Given the description of an element on the screen output the (x, y) to click on. 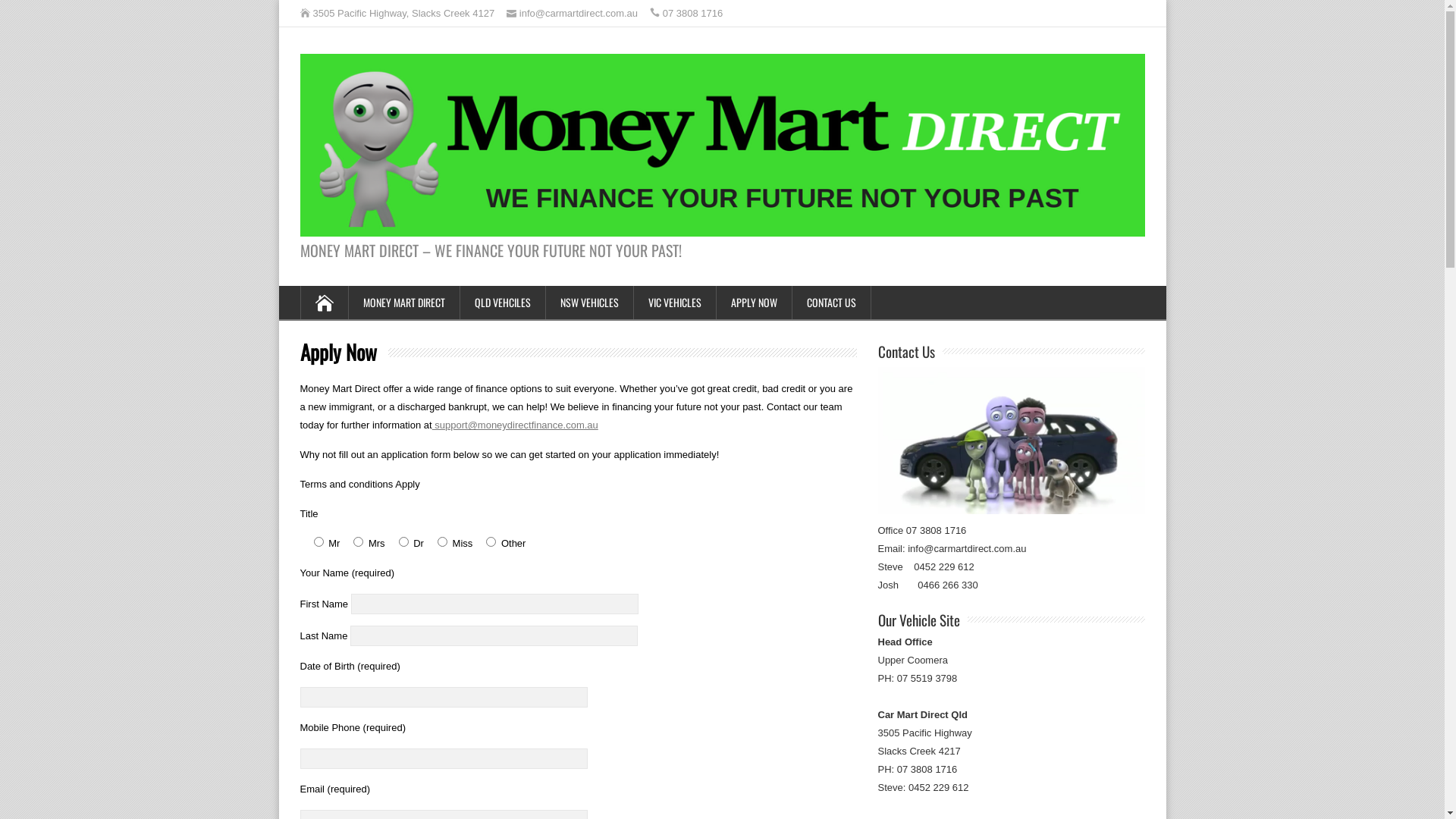
NSW VEHICLES Element type: text (589, 302)
VIC VEHICLES Element type: text (674, 302)
QLD VEHCILES Element type: text (502, 302)
APPLY NOW Element type: text (753, 302)
support@moneydirectfinance.com.au Element type: text (515, 424)
CONTACT US Element type: text (830, 302)
MONEY MART DIRECT Element type: text (404, 302)
